Given the description of an element on the screen output the (x, y) to click on. 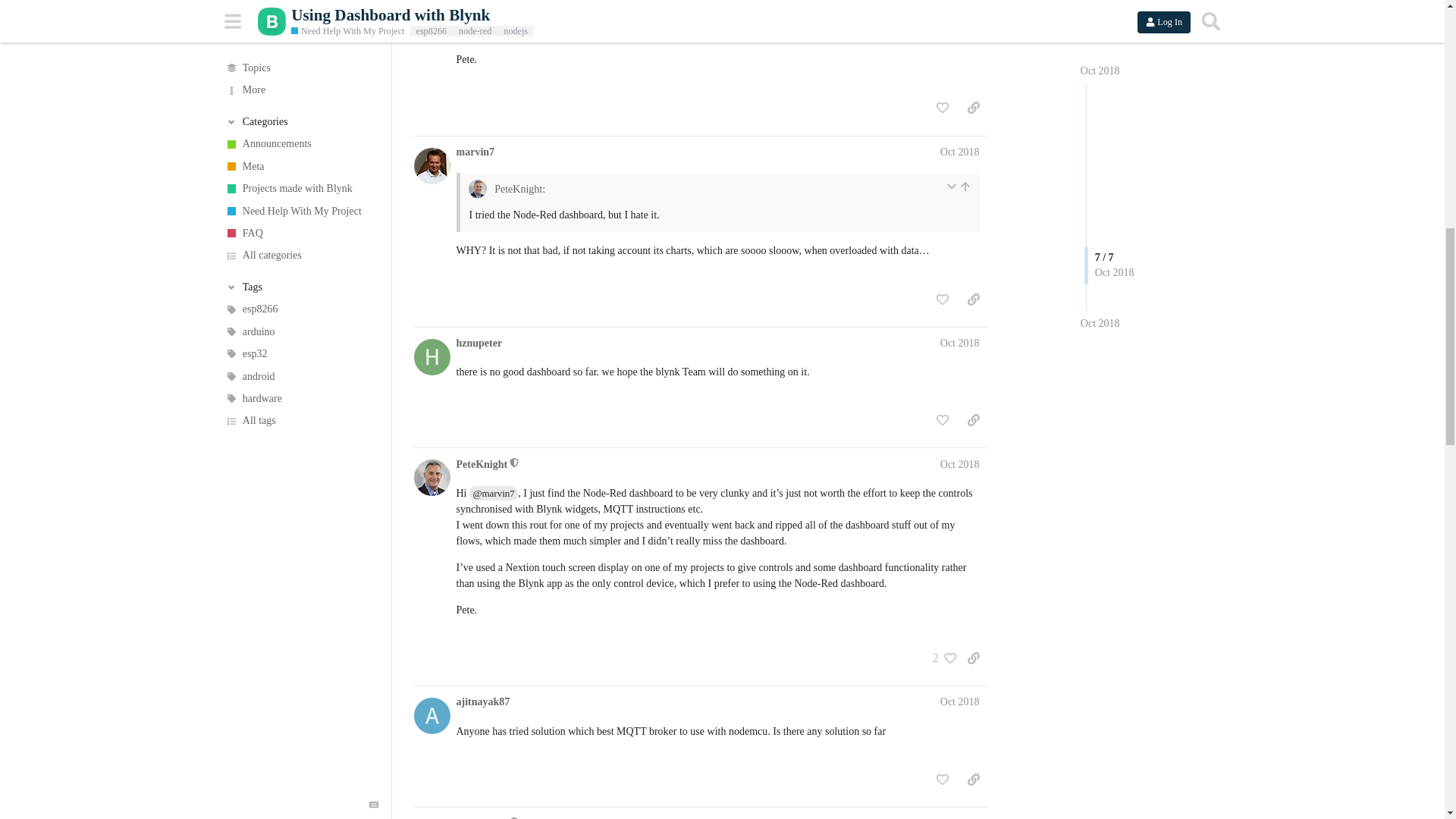
Keyboard Shortcuts (373, 22)
